Given the description of an element on the screen output the (x, y) to click on. 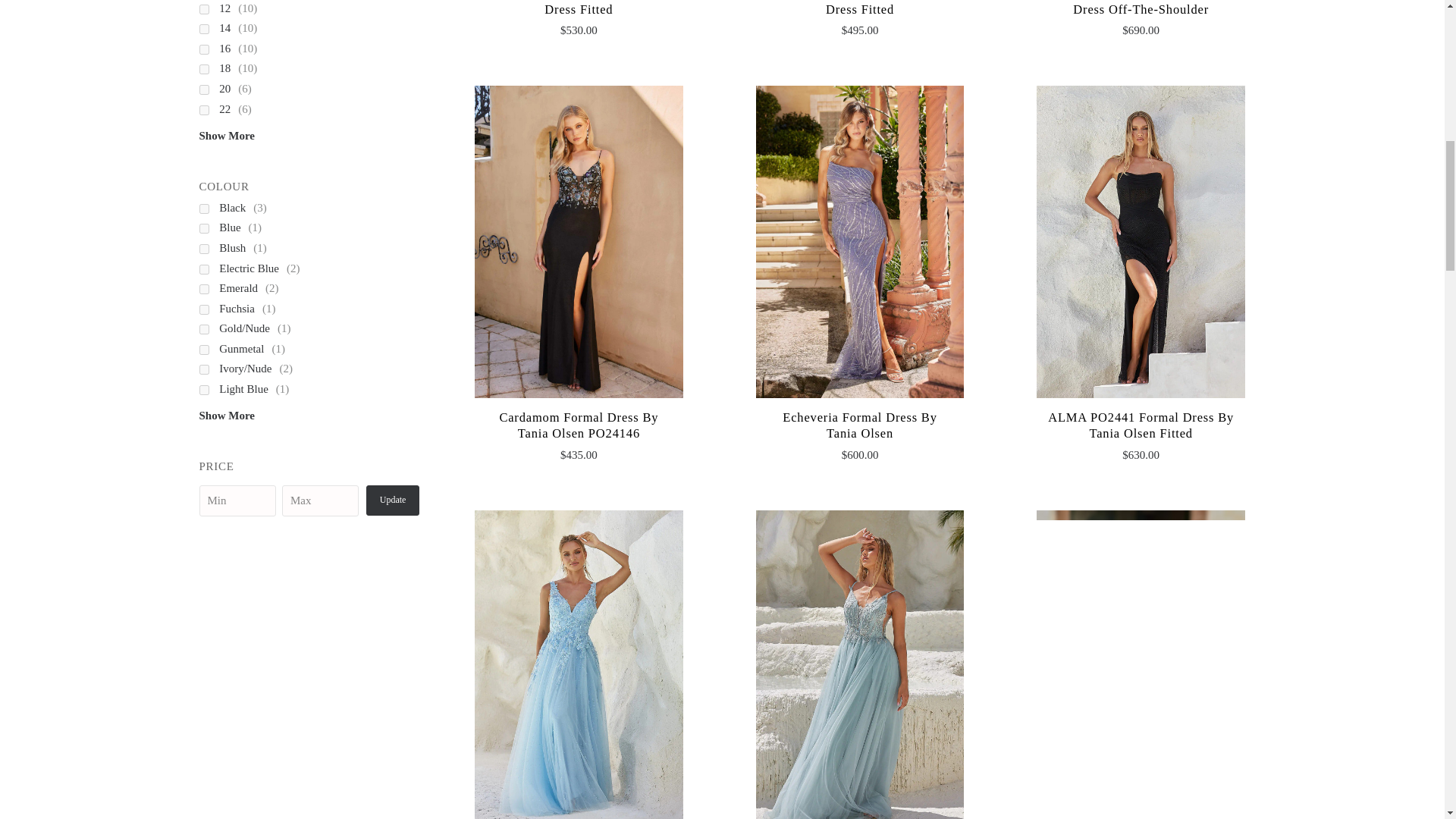
on (203, 208)
18 (232, 67)
on (203, 69)
Blue (238, 227)
on (203, 90)
on (203, 9)
on (203, 269)
on (203, 228)
22 (232, 107)
Blush (240, 247)
